Given the description of an element on the screen output the (x, y) to click on. 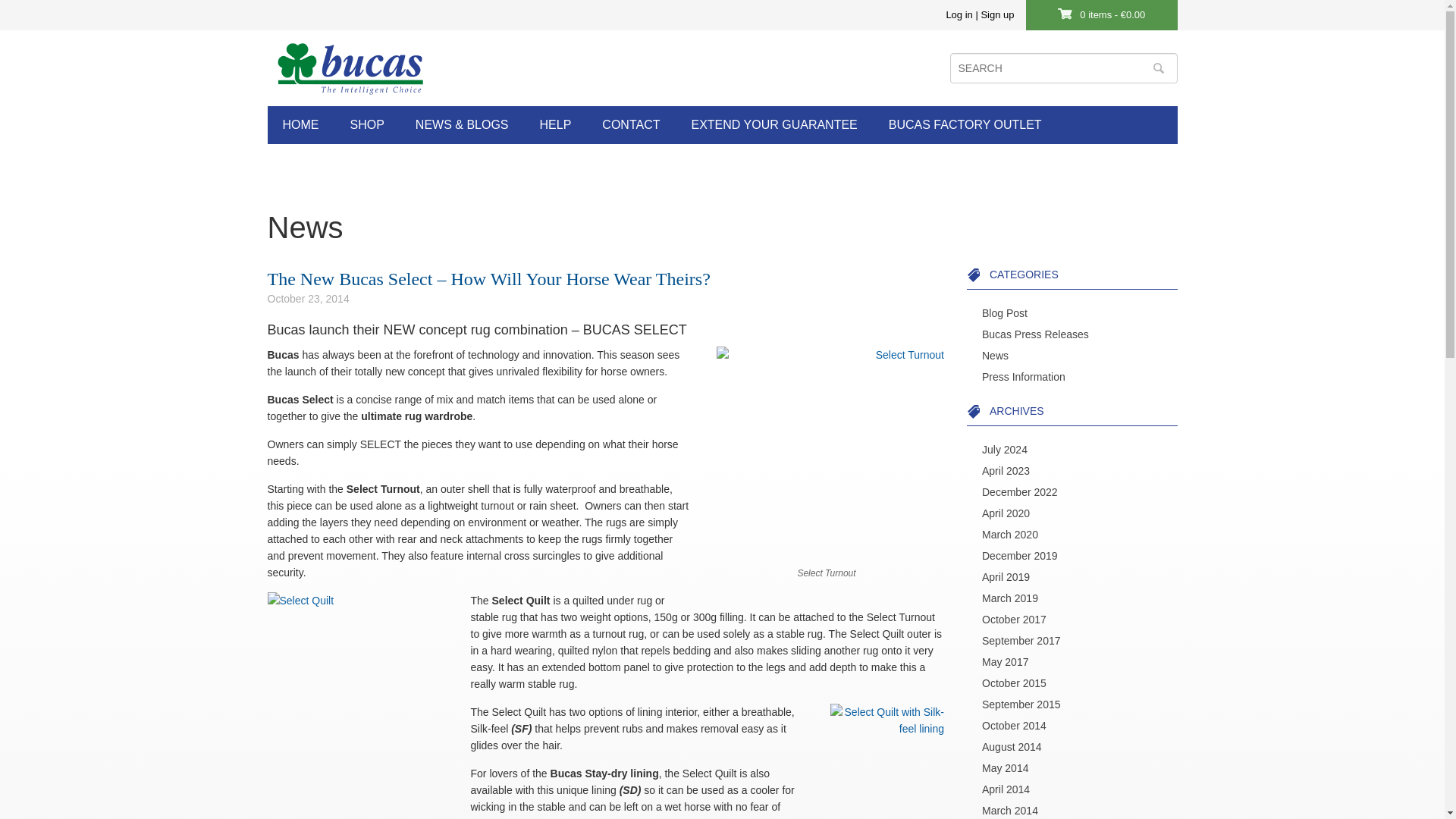
October 2017 (1013, 619)
April 2020 (1005, 513)
April 2023 (1005, 470)
September 2015 (1021, 704)
BUCAS FACTORY OUTLET (965, 125)
May 2014 (1004, 768)
View your shopping cart (1112, 14)
April 2014 (1005, 789)
Blog Post (1004, 312)
December 2022 (1019, 492)
